Given the description of an element on the screen output the (x, y) to click on. 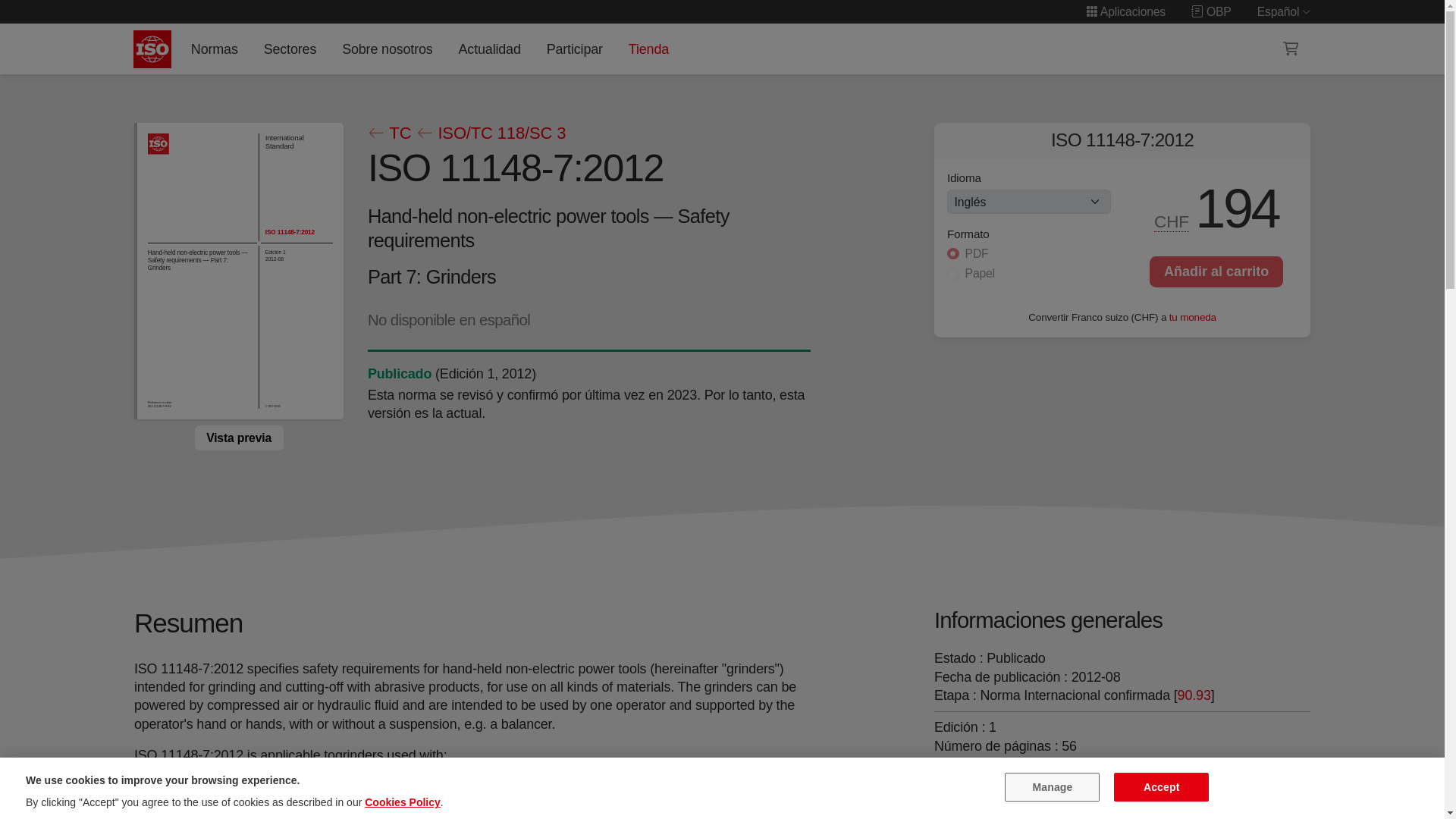
Normas (214, 48)
 OBP (1211, 11)
 Aplicaciones (1126, 11)
Ciclo de vida (398, 372)
Pneumatic tools (997, 795)
Vista previa (237, 437)
25.140.10 (997, 795)
TC (388, 133)
Tienda (648, 48)
Actualidad (489, 48)
tu moneda (1192, 316)
Pneumatic tools and machines (1089, 777)
Participar (574, 48)
